Given the description of an element on the screen output the (x, y) to click on. 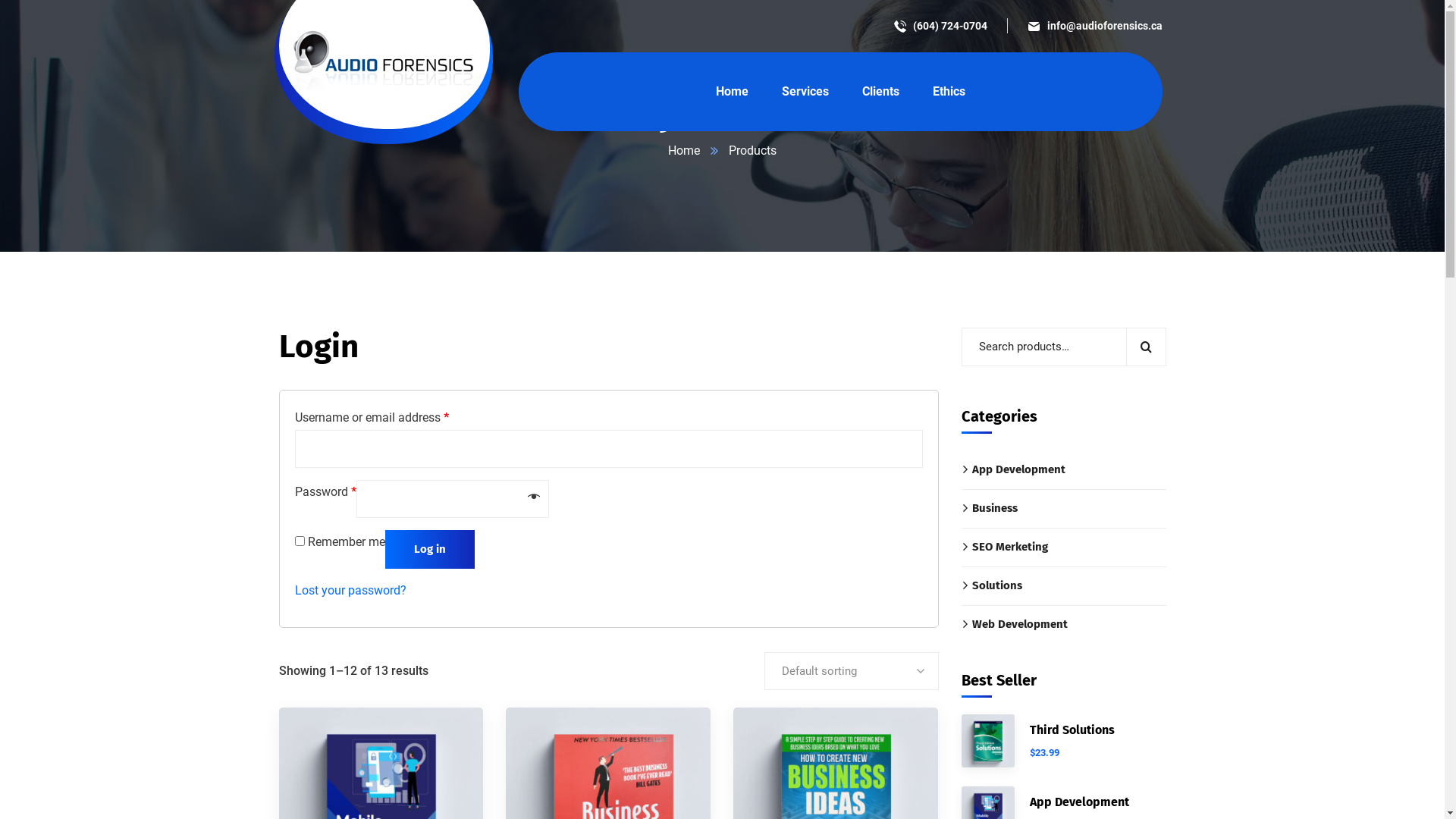
Services Element type: text (804, 91)
SEO Merketing Element type: text (1063, 546)
Lost your password? Element type: text (349, 590)
Search Element type: text (1145, 346)
App Development Element type: text (1079, 801)
Log in Element type: text (429, 549)
Business Element type: text (1063, 508)
Solutions Element type: text (1063, 585)
App Development Element type: text (1063, 469)
Web Development Element type: text (1063, 624)
Clients Element type: text (880, 91)
Third Solutions Element type: text (1071, 729)
Ethics Element type: text (948, 91)
Home Element type: text (731, 91)
Home Element type: text (683, 150)
